Given the description of an element on the screen output the (x, y) to click on. 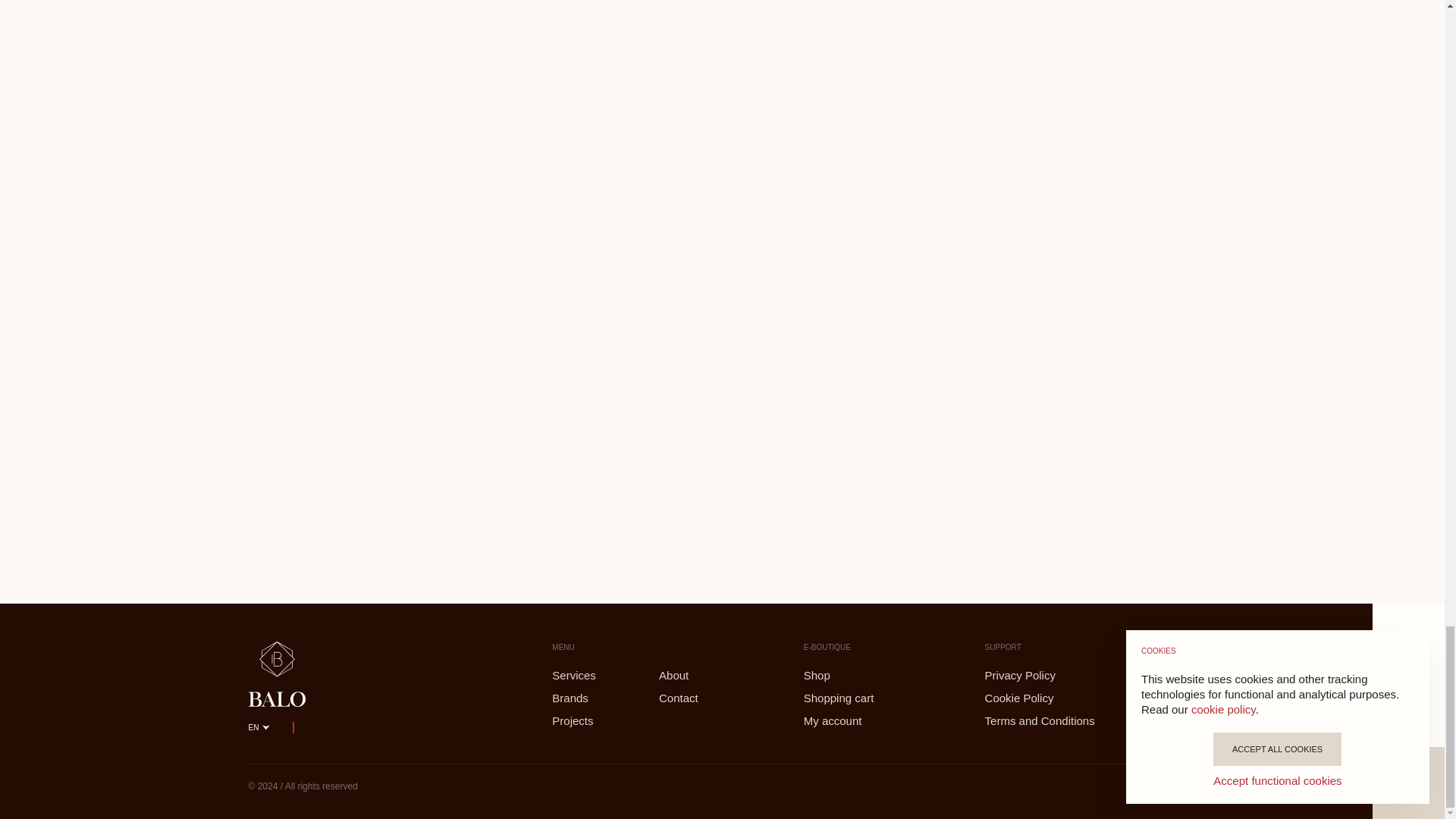
Cookie Policy (1072, 698)
My account (855, 720)
Contact (693, 698)
Services (586, 675)
Brands (586, 698)
Privacy Policy (1072, 675)
Terms and Conditions (1072, 720)
Projects (586, 720)
About (693, 675)
Shop (855, 675)
EN (259, 727)
Shopping cart (855, 698)
